Given the description of an element on the screen output the (x, y) to click on. 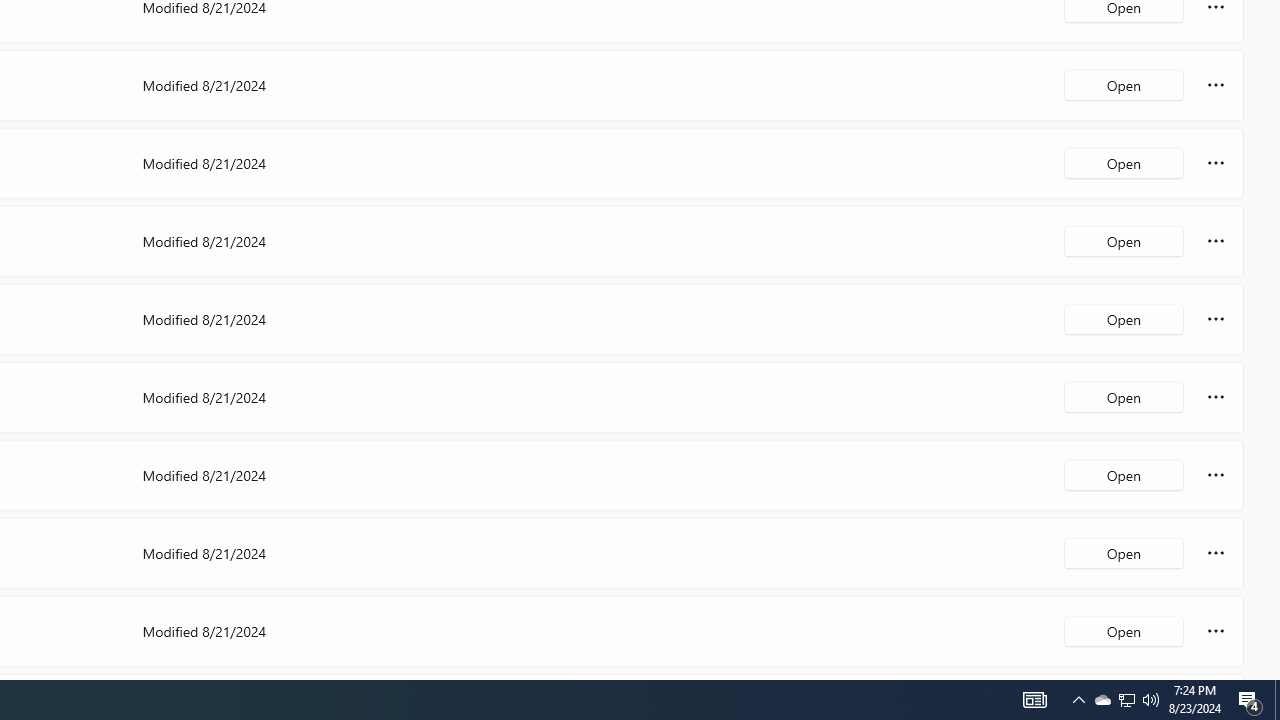
Open (1123, 630)
More options (1215, 630)
